Given the description of an element on the screen output the (x, y) to click on. 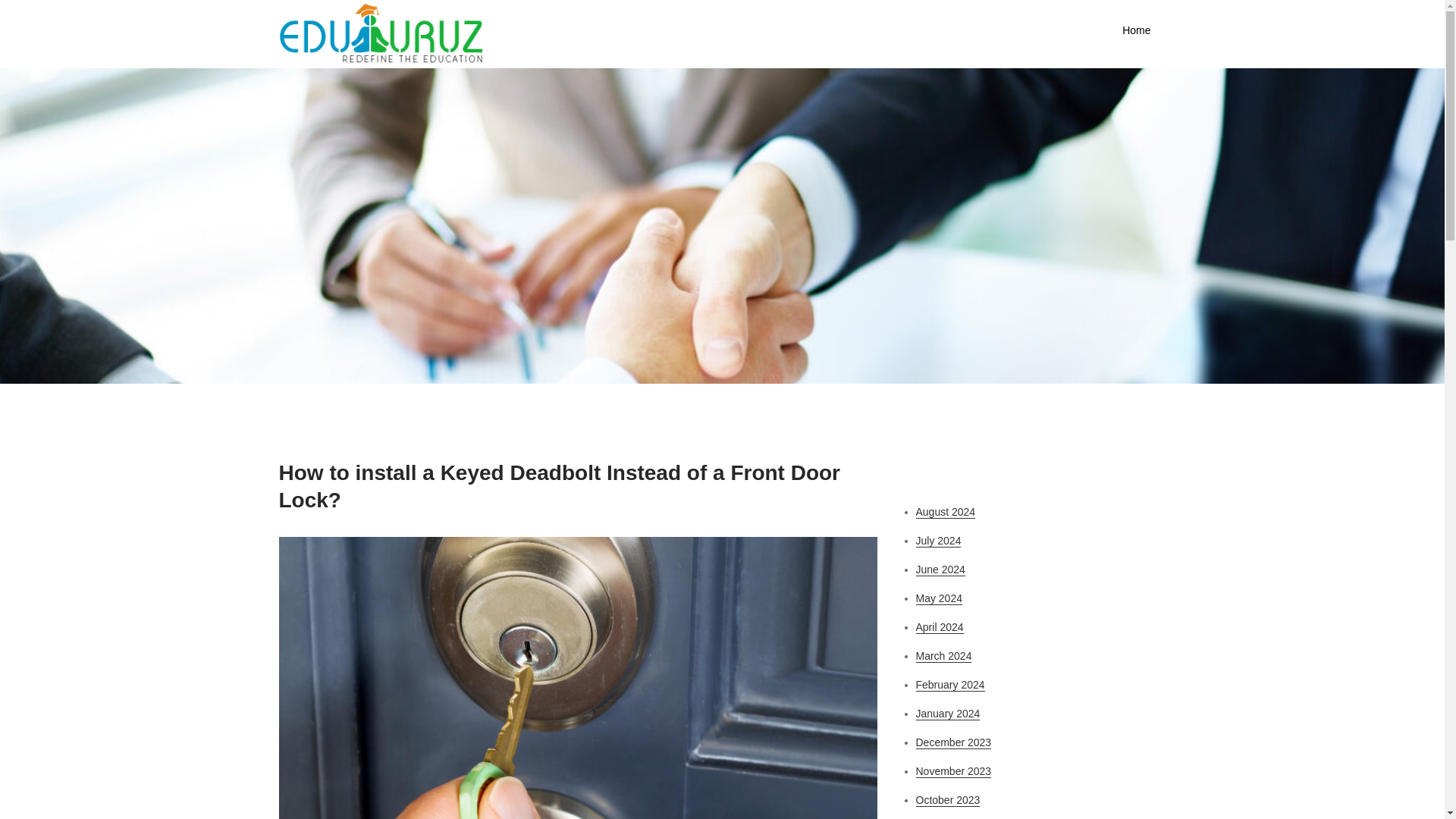
July 2024 (937, 540)
January 2024 (947, 713)
October 2023 (947, 799)
November 2023 (953, 771)
August 2024 (945, 512)
February 2024 (950, 684)
March 2024 (943, 656)
June 2024 (940, 569)
Home (1136, 30)
